Given the description of an element on the screen output the (x, y) to click on. 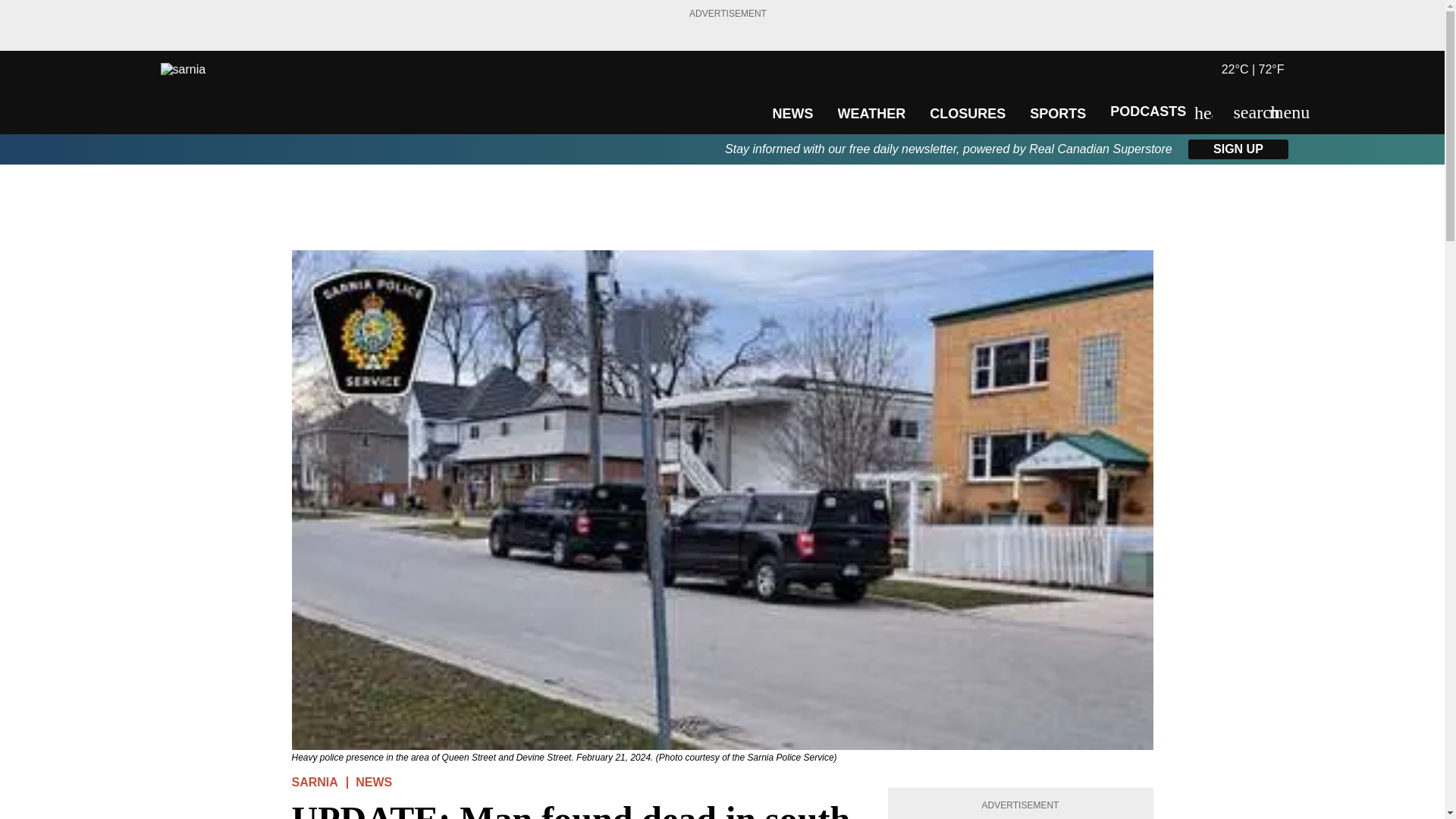
SARNIA (314, 781)
search (1242, 112)
SIGN UP (1238, 148)
NEWS (373, 781)
NEWS (791, 114)
menu (1278, 112)
SPORTS (1057, 114)
WEATHER (871, 114)
CLOSURES (968, 114)
